Given the description of an element on the screen output the (x, y) to click on. 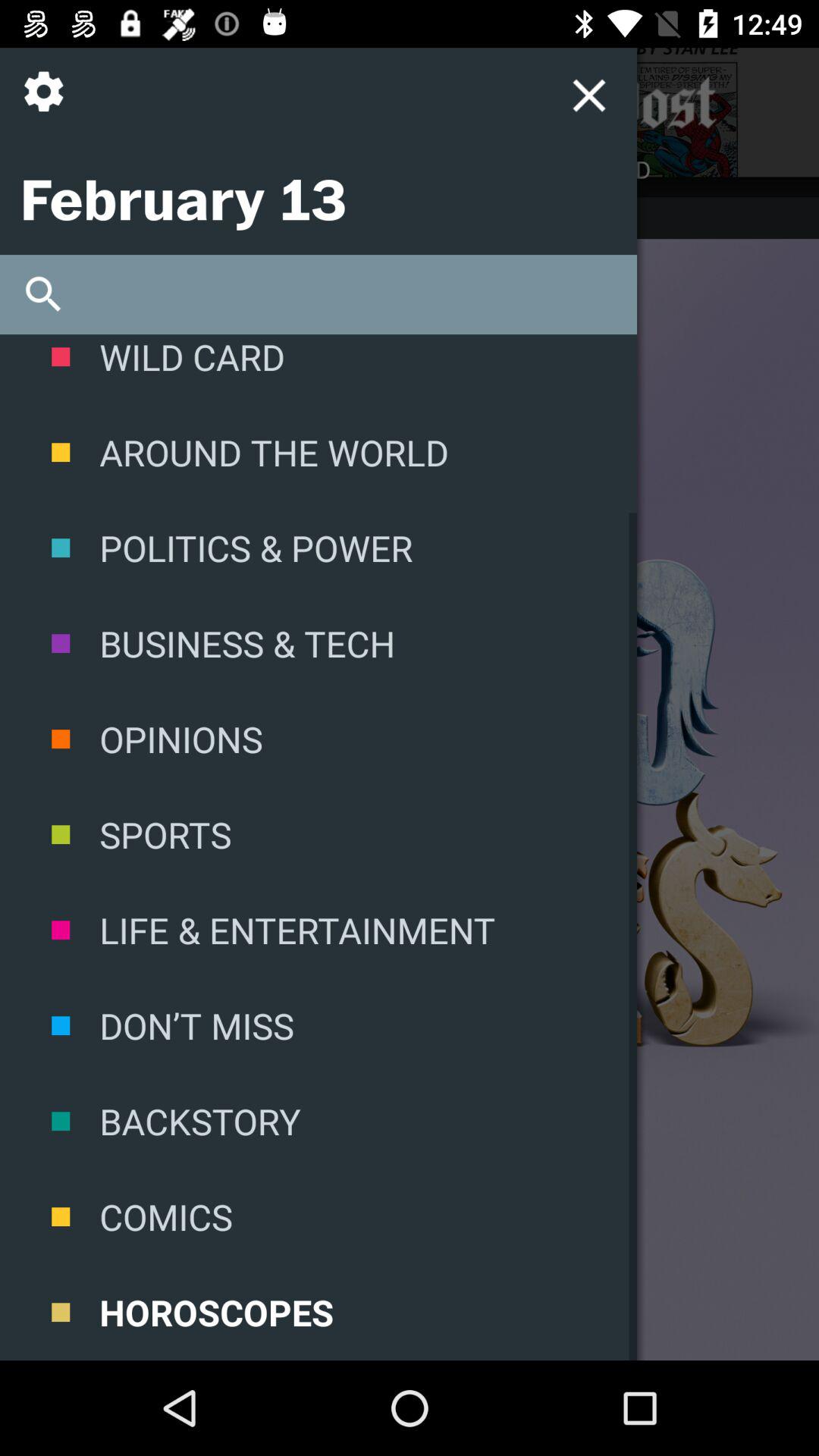
jump to the sports icon (318, 834)
